Given the description of an element on the screen output the (x, y) to click on. 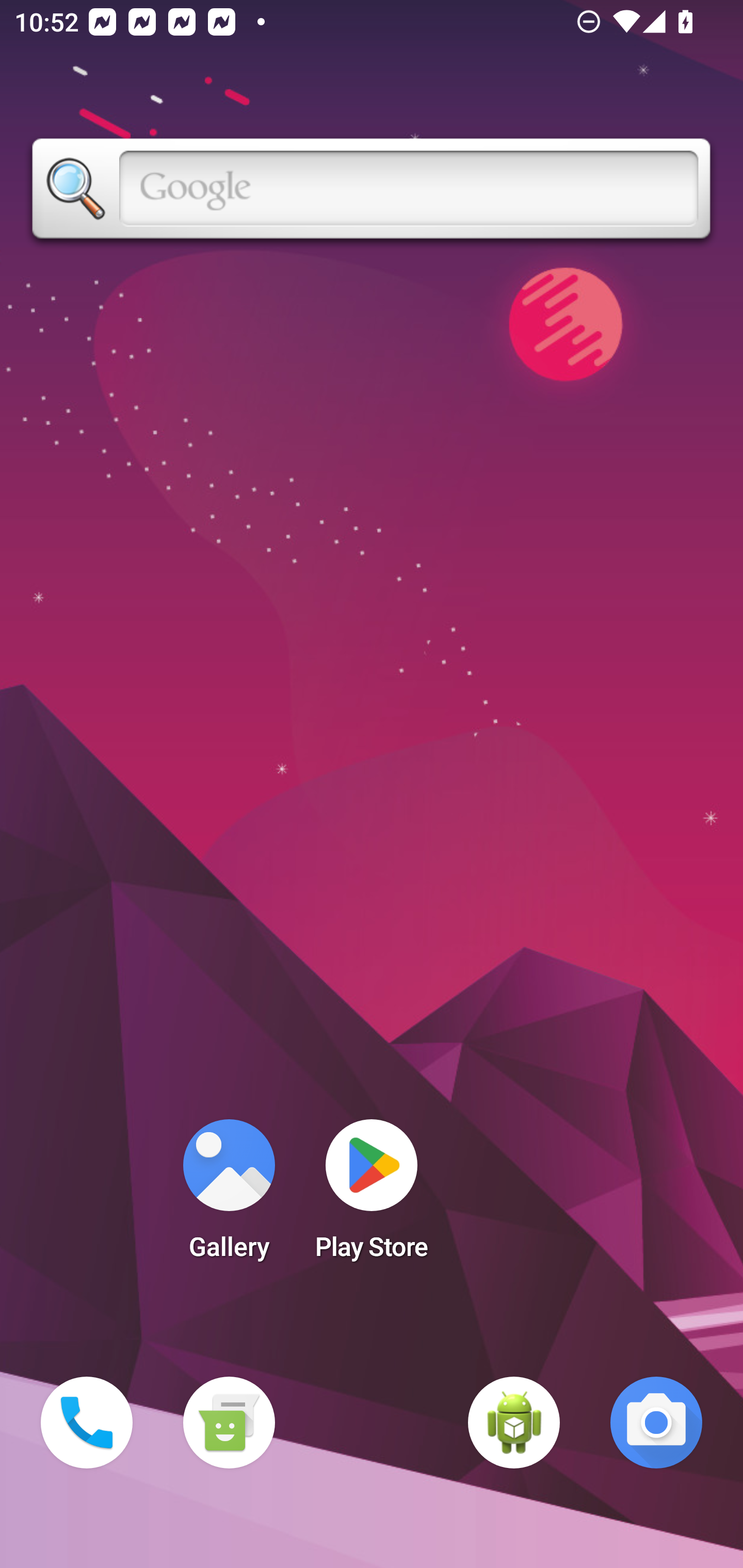
Gallery (228, 1195)
Play Store (371, 1195)
Phone (86, 1422)
Messaging (228, 1422)
WebView Browser Tester (513, 1422)
Camera (656, 1422)
